Given the description of an element on the screen output the (x, y) to click on. 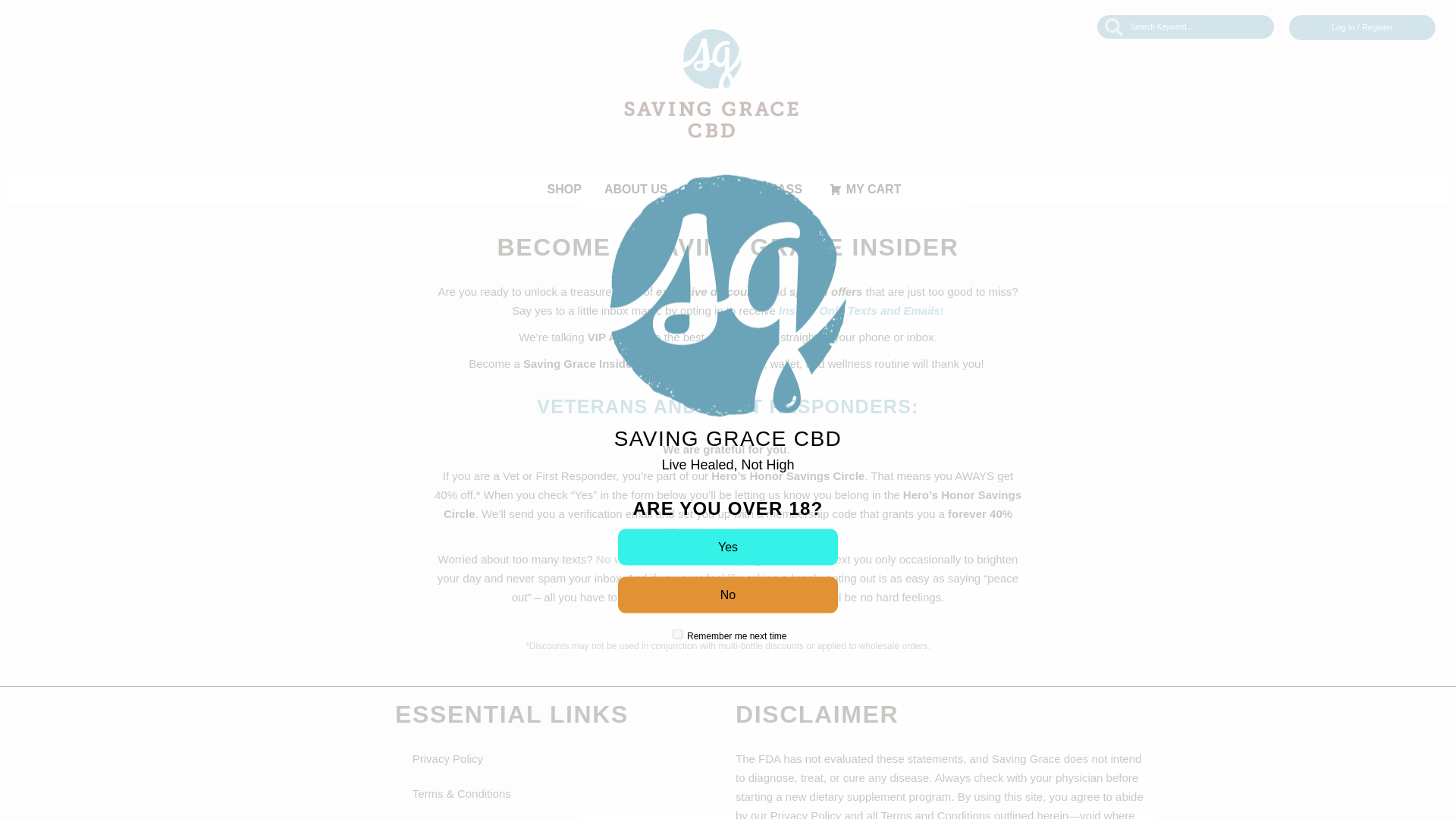
ABOUT US (637, 189)
MY CART (865, 189)
CANNA COMPASS (750, 189)
1 (677, 634)
Contact Us (512, 815)
SHOP (564, 189)
No (727, 594)
Privacy Policy (512, 759)
Yes (727, 546)
